Given the description of an element on the screen output the (x, y) to click on. 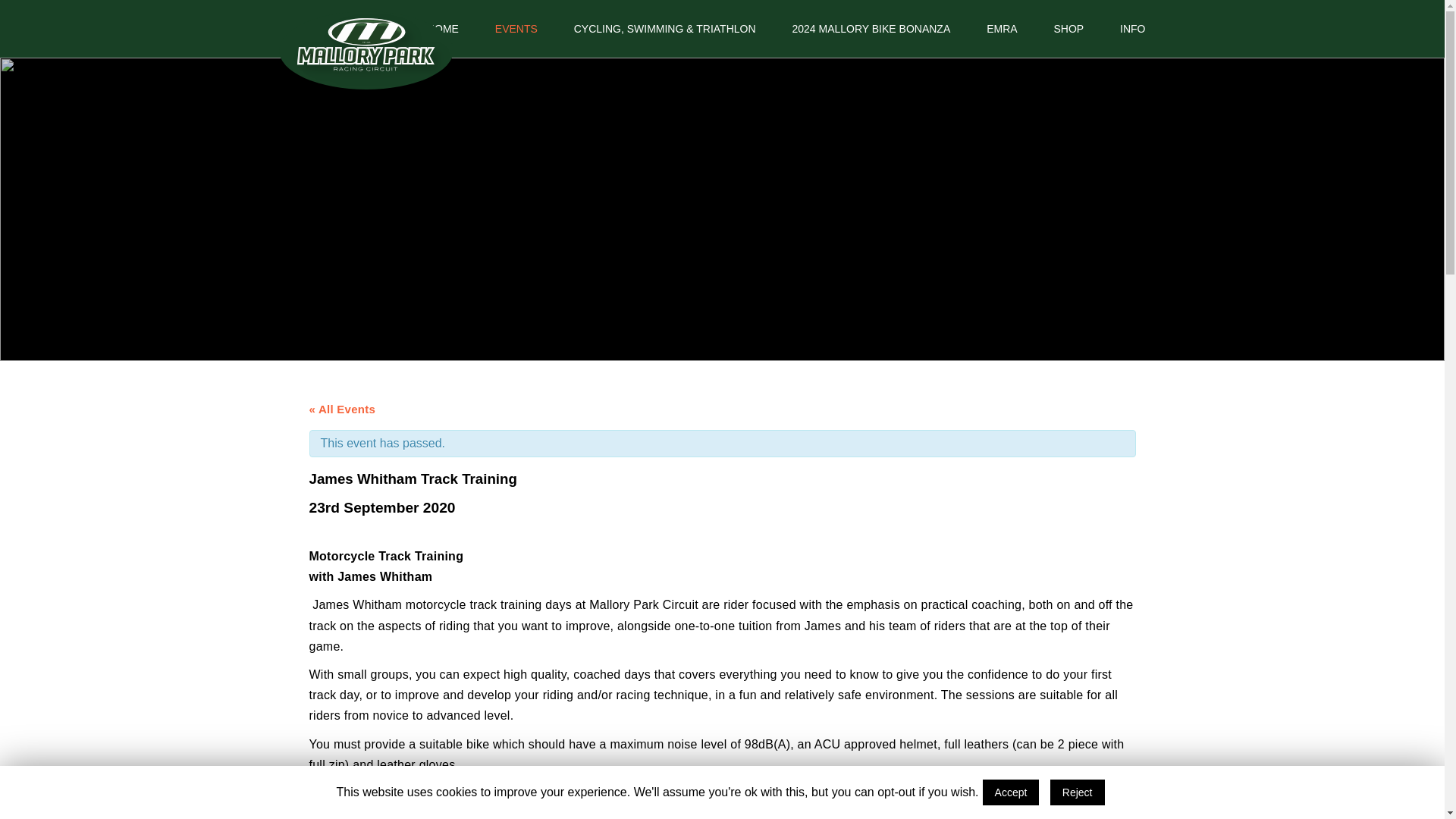
click here (714, 792)
INFO (1132, 28)
SHOP (1068, 28)
2024 MALLORY BIKE BONANZA (870, 28)
EMRA (1001, 28)
HOME (443, 28)
EVENTS (516, 28)
